Given the description of an element on the screen output the (x, y) to click on. 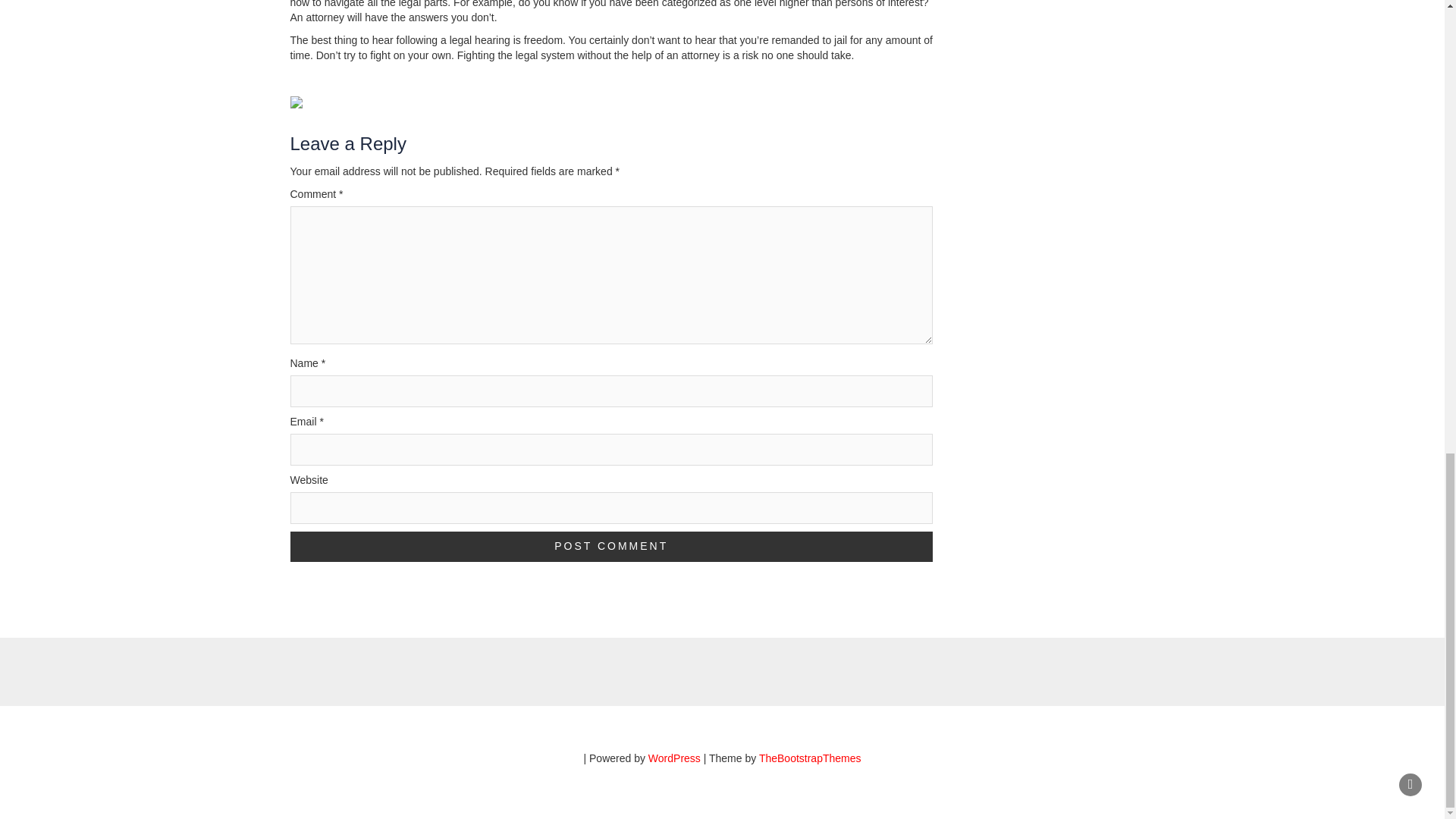
Post Comment (611, 546)
Post Comment (611, 546)
TheBootstrapThemes (809, 758)
WordPress (673, 758)
